Given the description of an element on the screen output the (x, y) to click on. 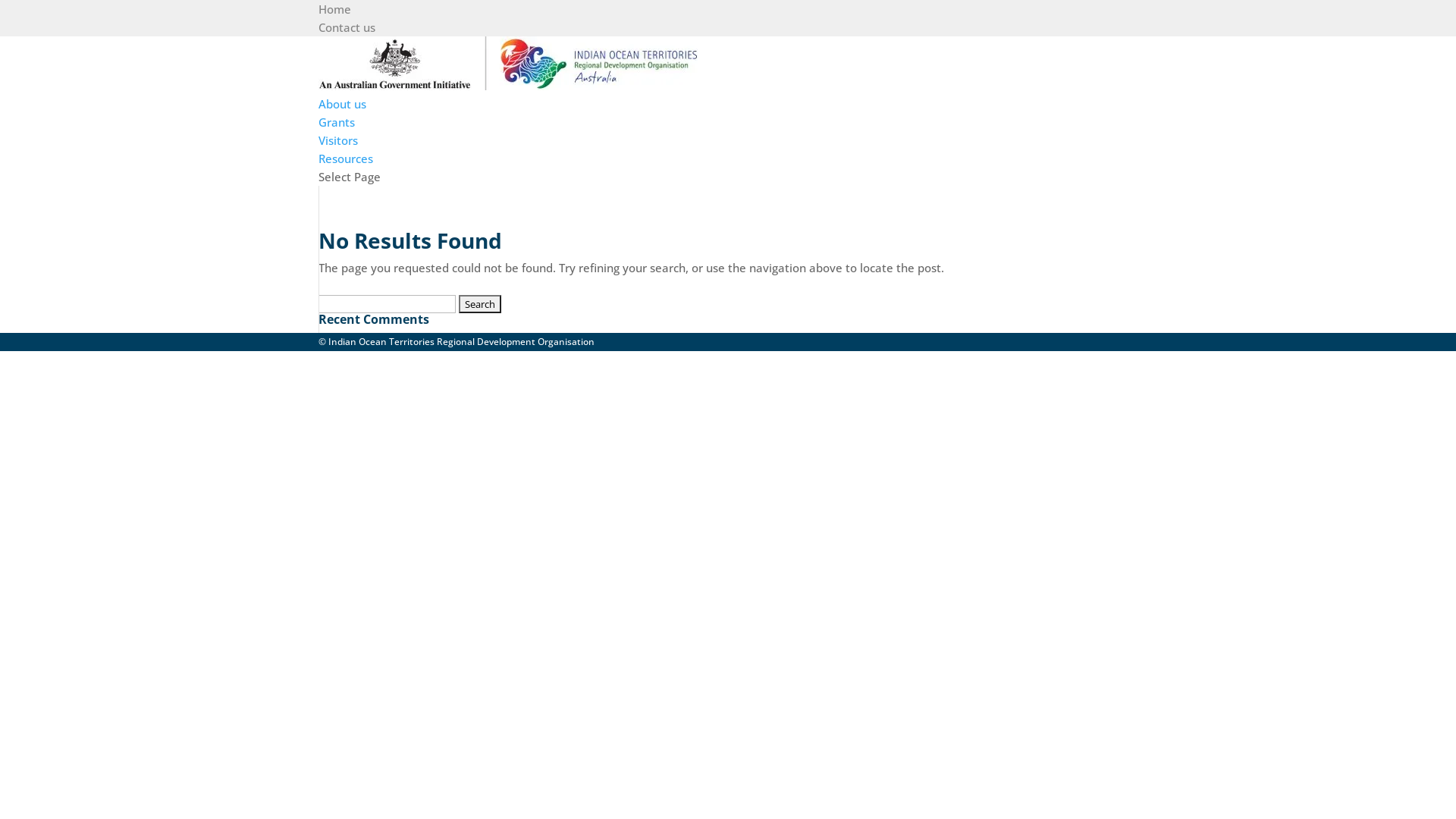
Visitors Element type: text (337, 139)
Resources Element type: text (345, 158)
Grants Element type: text (336, 121)
Home Element type: text (334, 8)
Search Element type: text (479, 303)
About us Element type: text (342, 103)
Contact us Element type: text (346, 26)
